Given the description of an element on the screen output the (x, y) to click on. 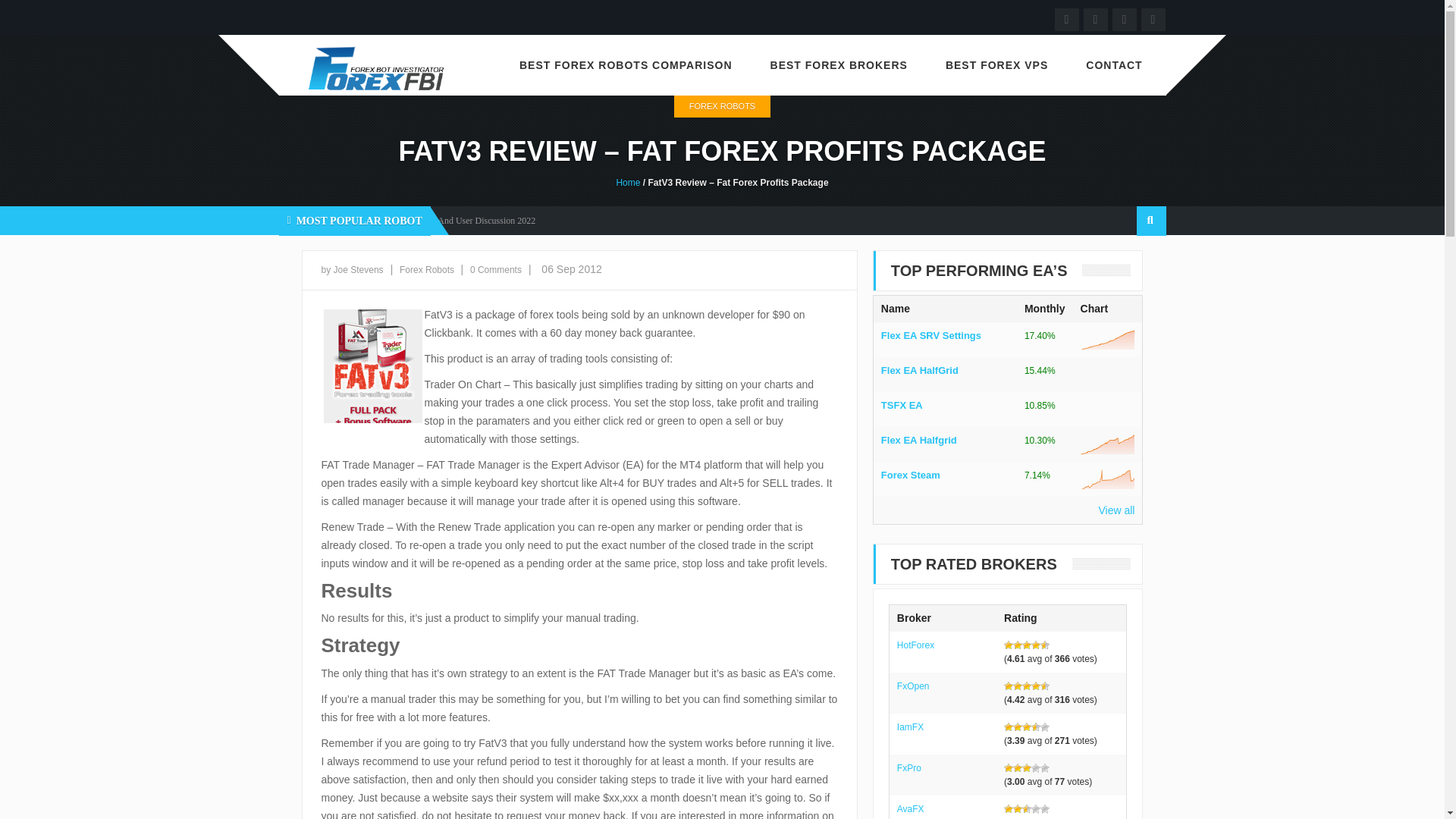
Forex Steam (944, 475)
HotForex (915, 644)
View all (1080, 509)
BEST FOREX VPS (996, 65)
Flex EA HalfGrid (944, 370)
FxOpen (913, 685)
FxPro (908, 767)
by Joe Stevens (352, 269)
Home (627, 182)
AvaFX (910, 808)
Forex Robots (427, 269)
BEST FOREX BROKERS (838, 65)
Forex Robots (321, 220)
FOREX ROBOTS (722, 106)
Forex Flex EA Review And User Discussion 2022 (443, 220)
